Given the description of an element on the screen output the (x, y) to click on. 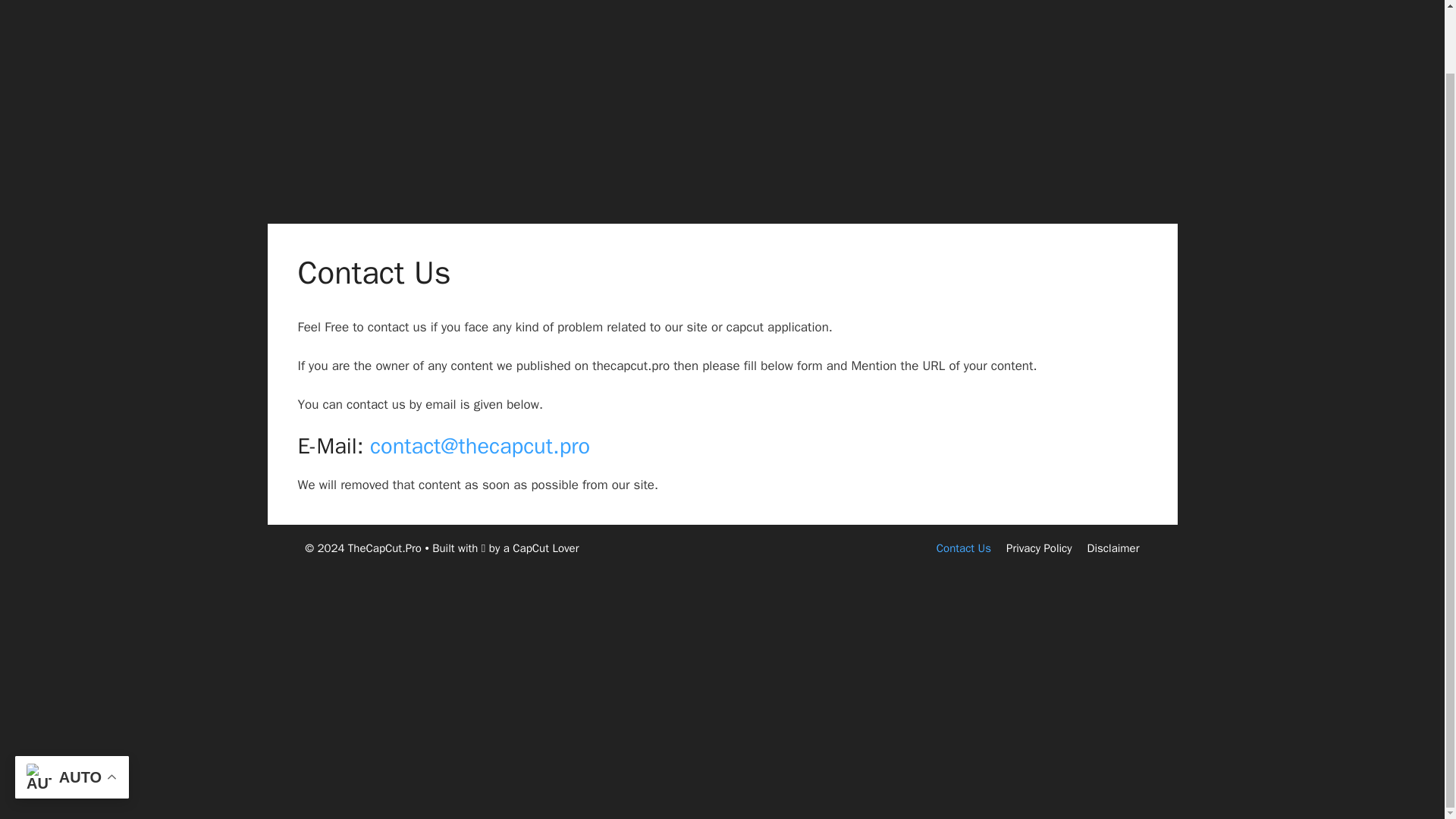
Privacy Policy (1038, 548)
Contact Us (963, 548)
Disclaimer (1113, 548)
